Given the description of an element on the screen output the (x, y) to click on. 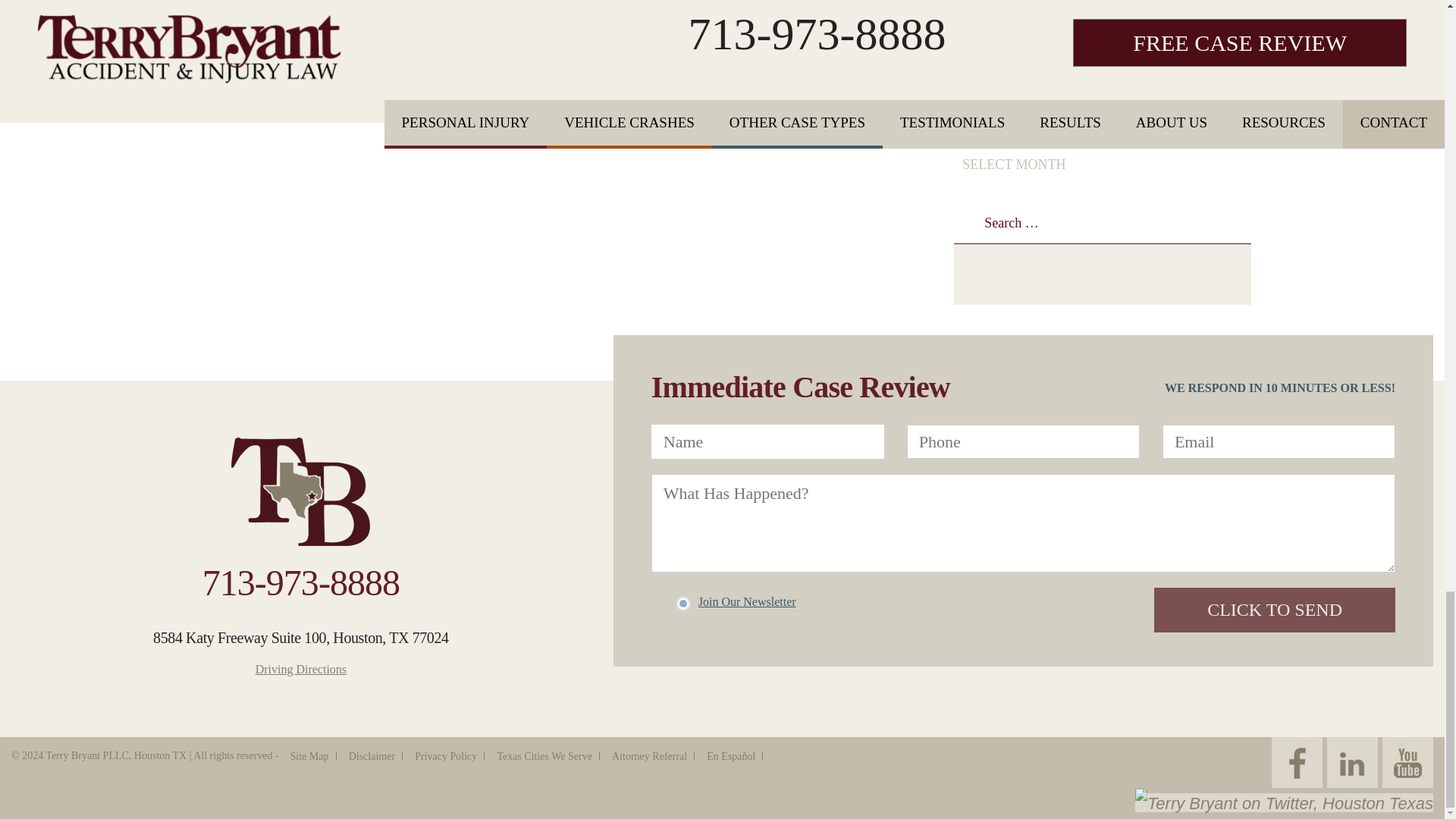
CLICK TO SEND (1274, 610)
